Given the description of an element on the screen output the (x, y) to click on. 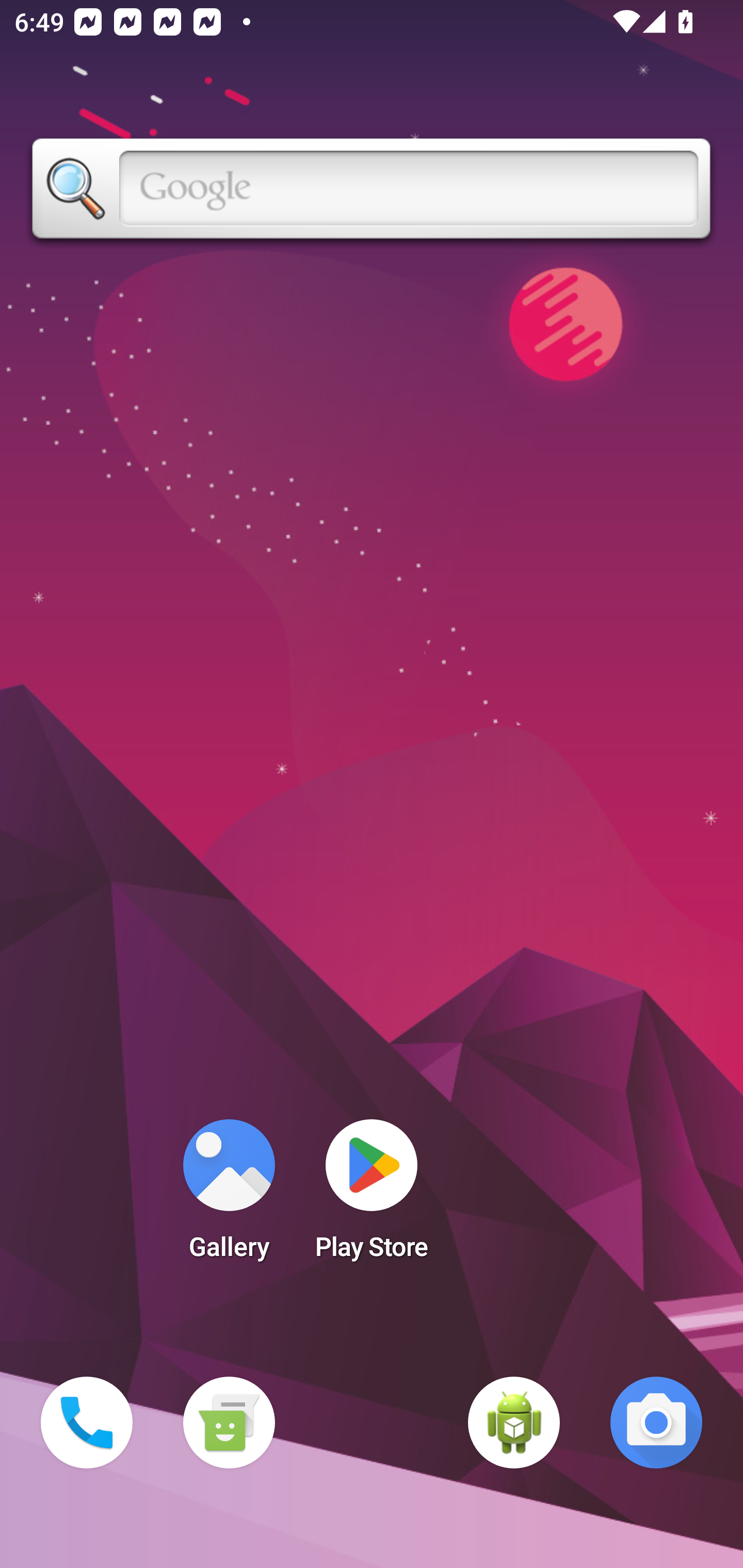
Gallery (228, 1195)
Play Store (371, 1195)
Phone (86, 1422)
Messaging (228, 1422)
WebView Browser Tester (513, 1422)
Camera (656, 1422)
